Given the description of an element on the screen output the (x, y) to click on. 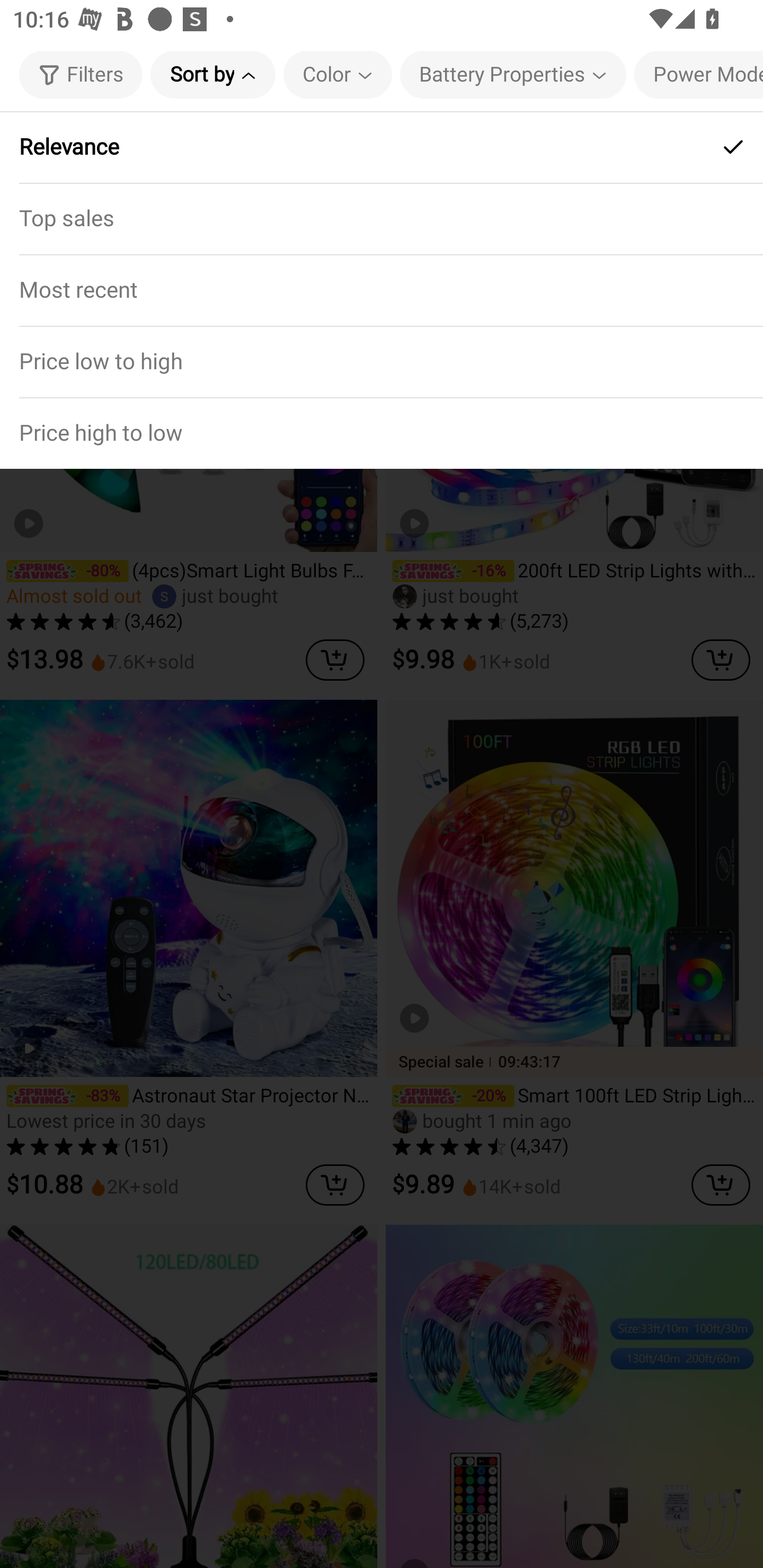
Filters (80, 74)
Sort by (212, 74)
Color (337, 74)
Battery Properties (512, 74)
Relevance (381, 147)
Top sales (381, 218)
Most recent (381, 290)
Price low to high (381, 361)
Price high to low (381, 432)
